Given the description of an element on the screen output the (x, y) to click on. 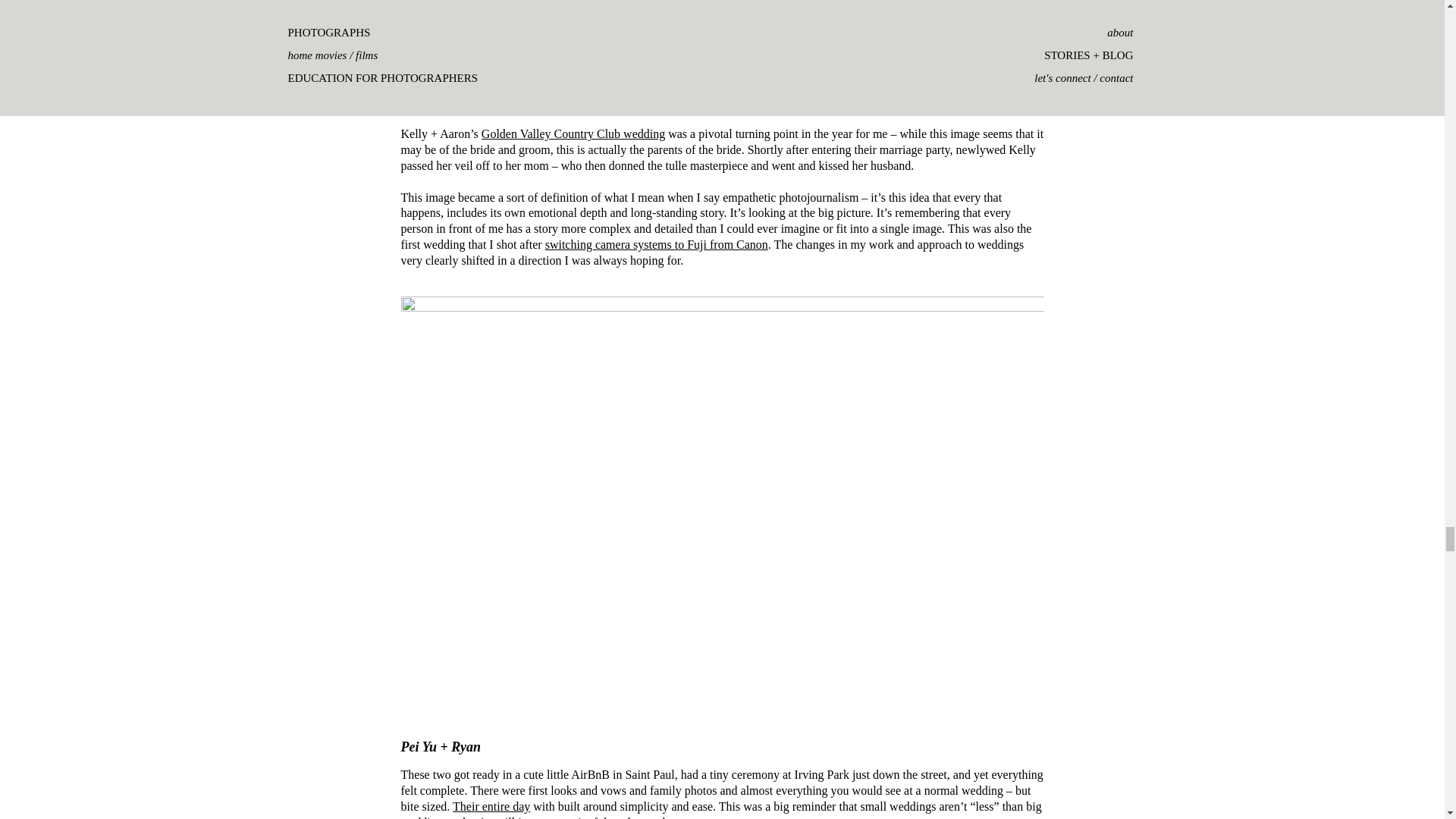
switching camera systems to Fuji from Canon (656, 244)
Their entire day (490, 806)
Golden Valley Country Club wedding (573, 133)
